Given the description of an element on the screen output the (x, y) to click on. 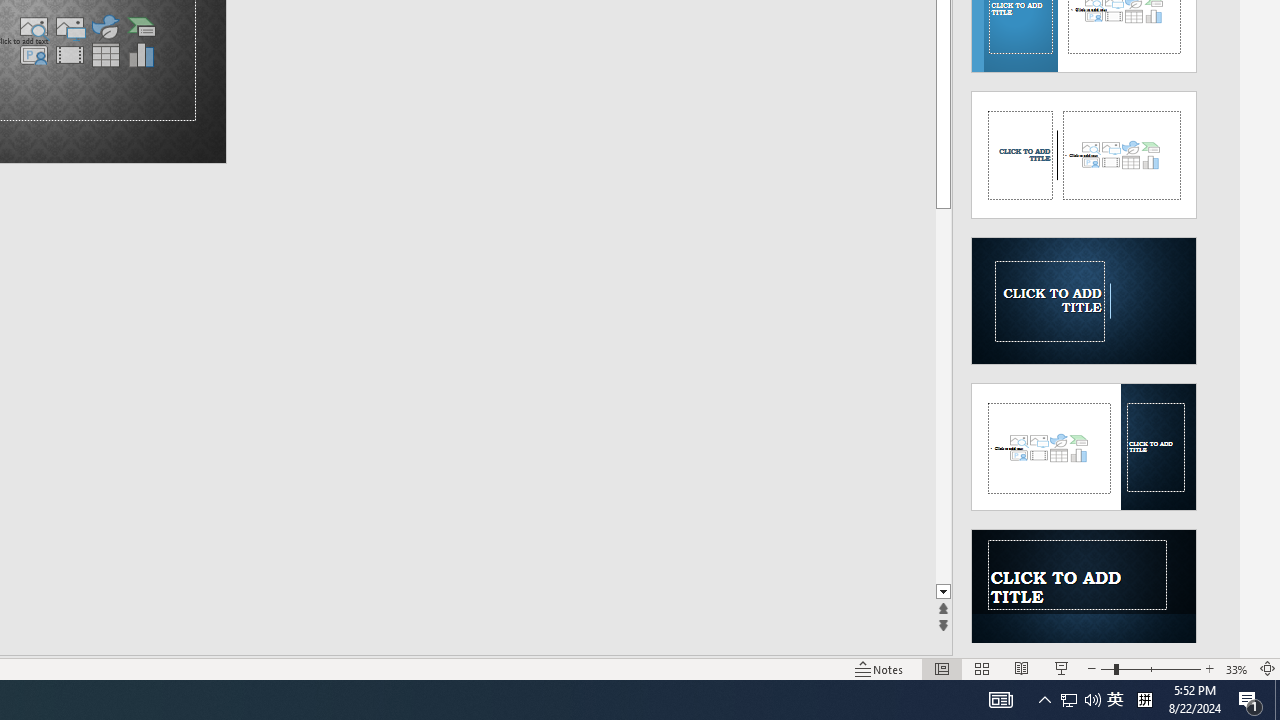
Insert a SmartArt Graphic (141, 26)
Insert an Icon (105, 26)
Line down (943, 592)
Normal (941, 668)
Design Idea (1083, 587)
Pictures (69, 26)
Slide Sorter (982, 668)
Zoom 33% (1236, 668)
Zoom In (1209, 668)
Insert Cameo (33, 55)
Zoom to Fit  (1267, 668)
Zoom (1150, 668)
Insert Table (105, 55)
Class: NetUIImage (1083, 592)
